Given the description of an element on the screen output the (x, y) to click on. 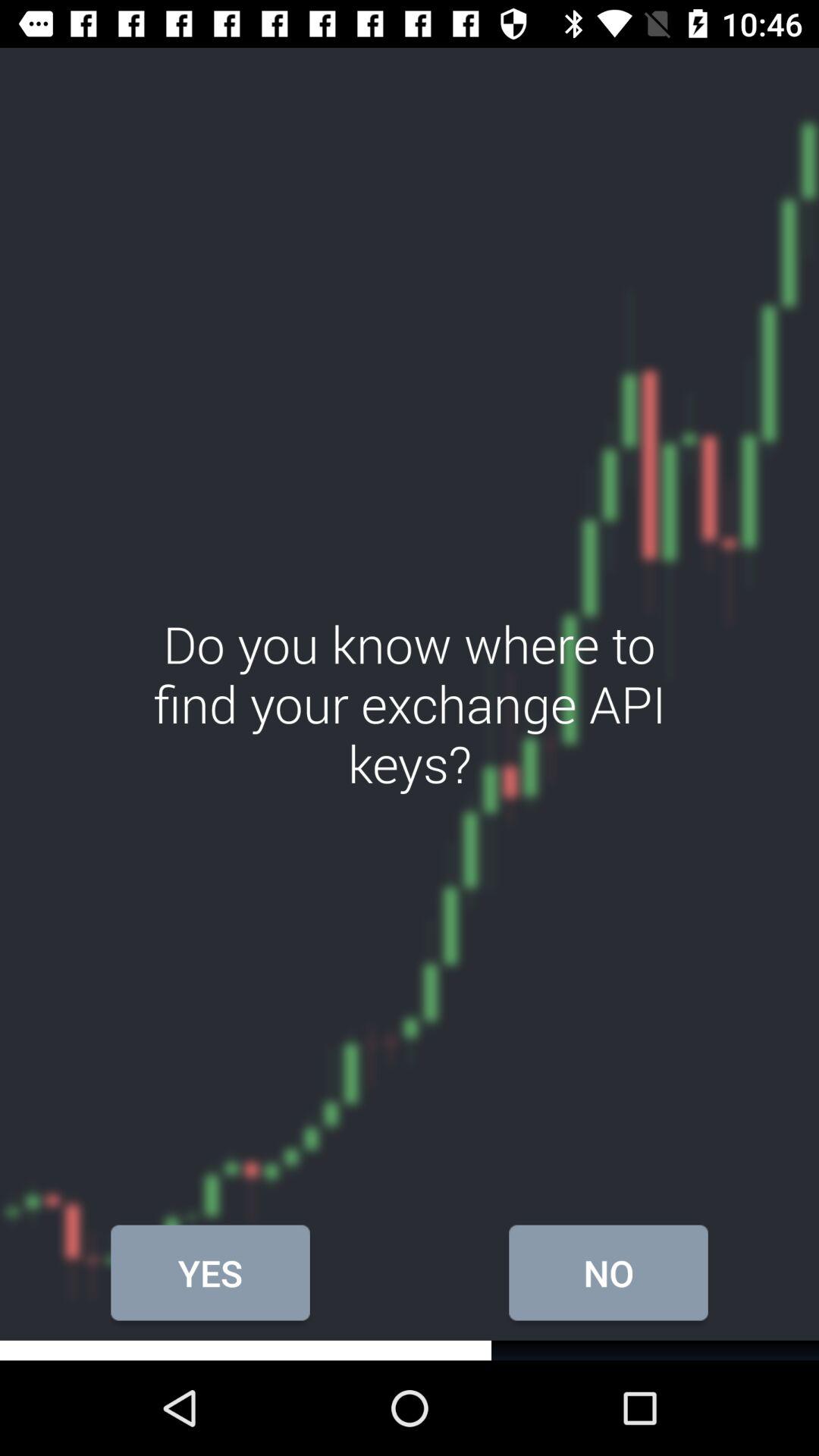
select icon to the left of no item (209, 1272)
